Given the description of an element on the screen output the (x, y) to click on. 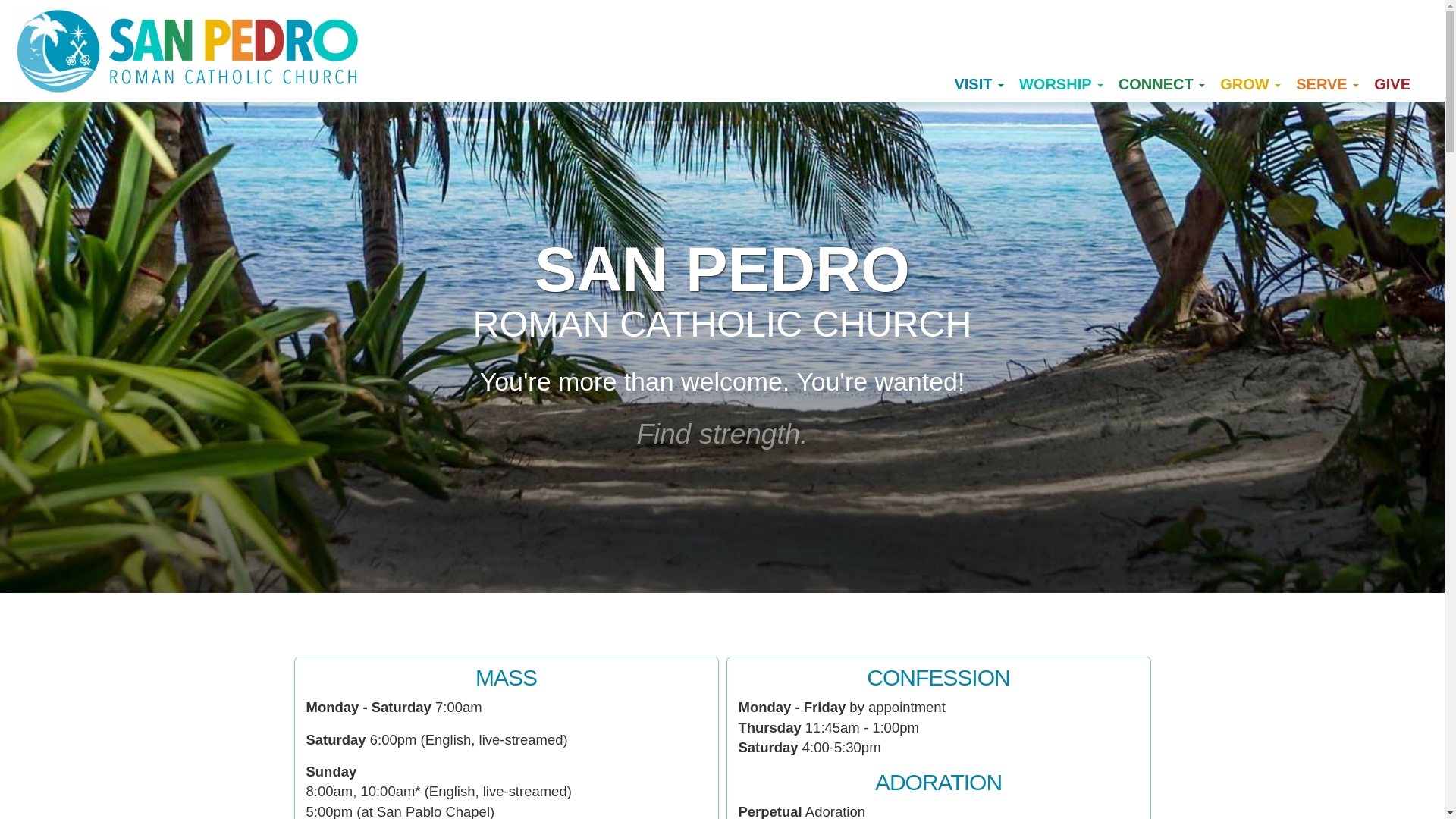
GROW Element type: text (1250, 85)
CONNECT Element type: text (1161, 85)
GIVE Element type: text (1392, 85)
VISIT Element type: text (978, 85)
WORSHIP Element type: text (1060, 85)
SERVE Element type: text (1327, 85)
